Given the description of an element on the screen output the (x, y) to click on. 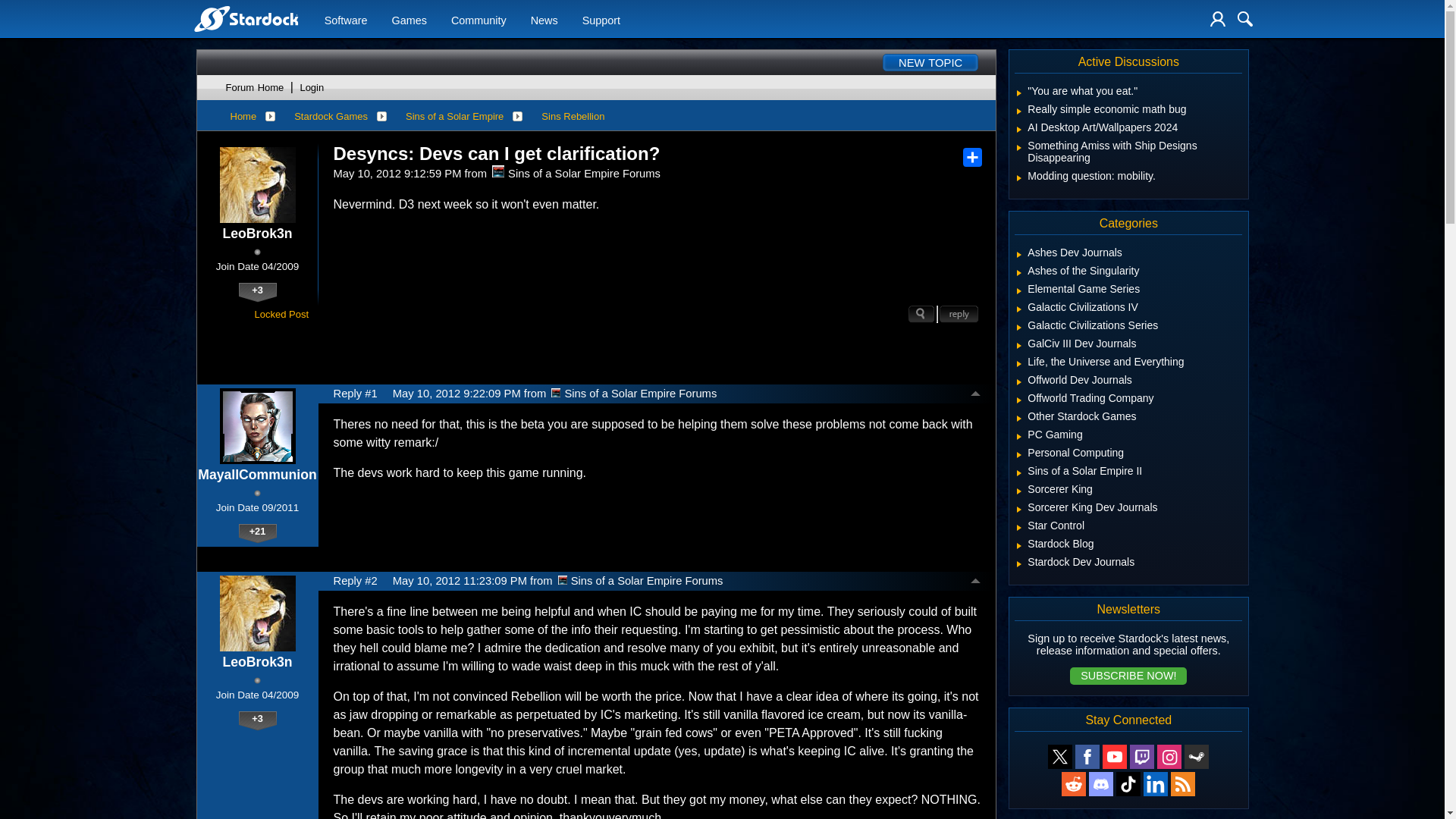
Rank: 1 (256, 492)
View MayallCommunion's Karma (257, 533)
Click user name to view more options. (257, 233)
Rank: 1 (256, 251)
Search this post (921, 313)
Sins of a Solar Empire Forums (497, 171)
Desyncs: Devs can I get clarification? (497, 153)
Click user name to view more options. (257, 662)
Click user name to view more options. (256, 474)
Search Stardock (1244, 17)
Login (1217, 17)
Stardock Logo (244, 18)
Reply to this post (958, 313)
Sins of a Solar Empire Forums (555, 392)
View LeoBrok3n's Karma (257, 292)
